Given the description of an element on the screen output the (x, y) to click on. 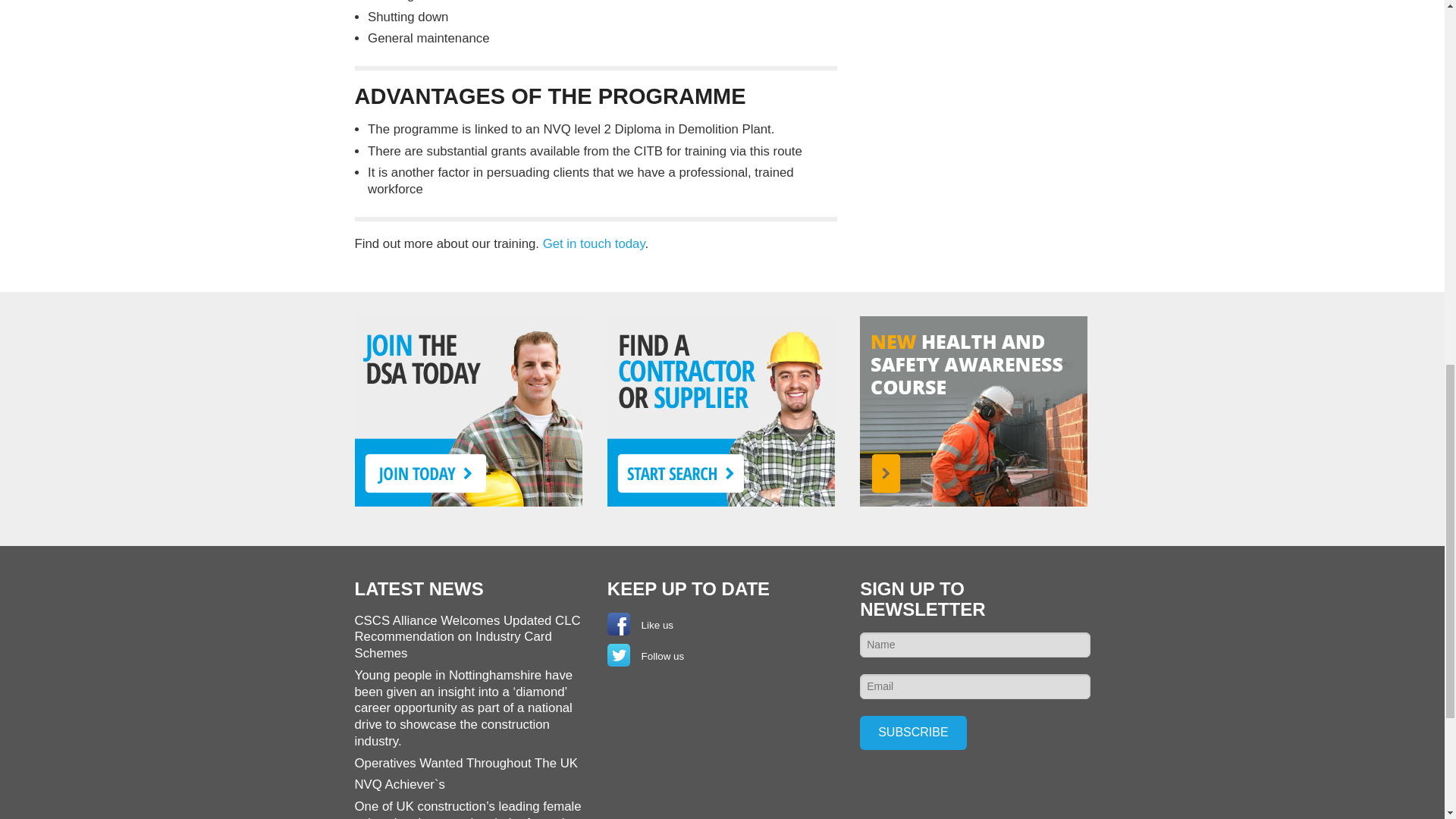
Subscribe (913, 732)
Get in touch today (594, 243)
Operatives Wanted Throughout The UK (466, 762)
Facebook (618, 623)
Subscribe (913, 732)
Contact Us (594, 243)
Twitter (618, 654)
